Given the description of an element on the screen output the (x, y) to click on. 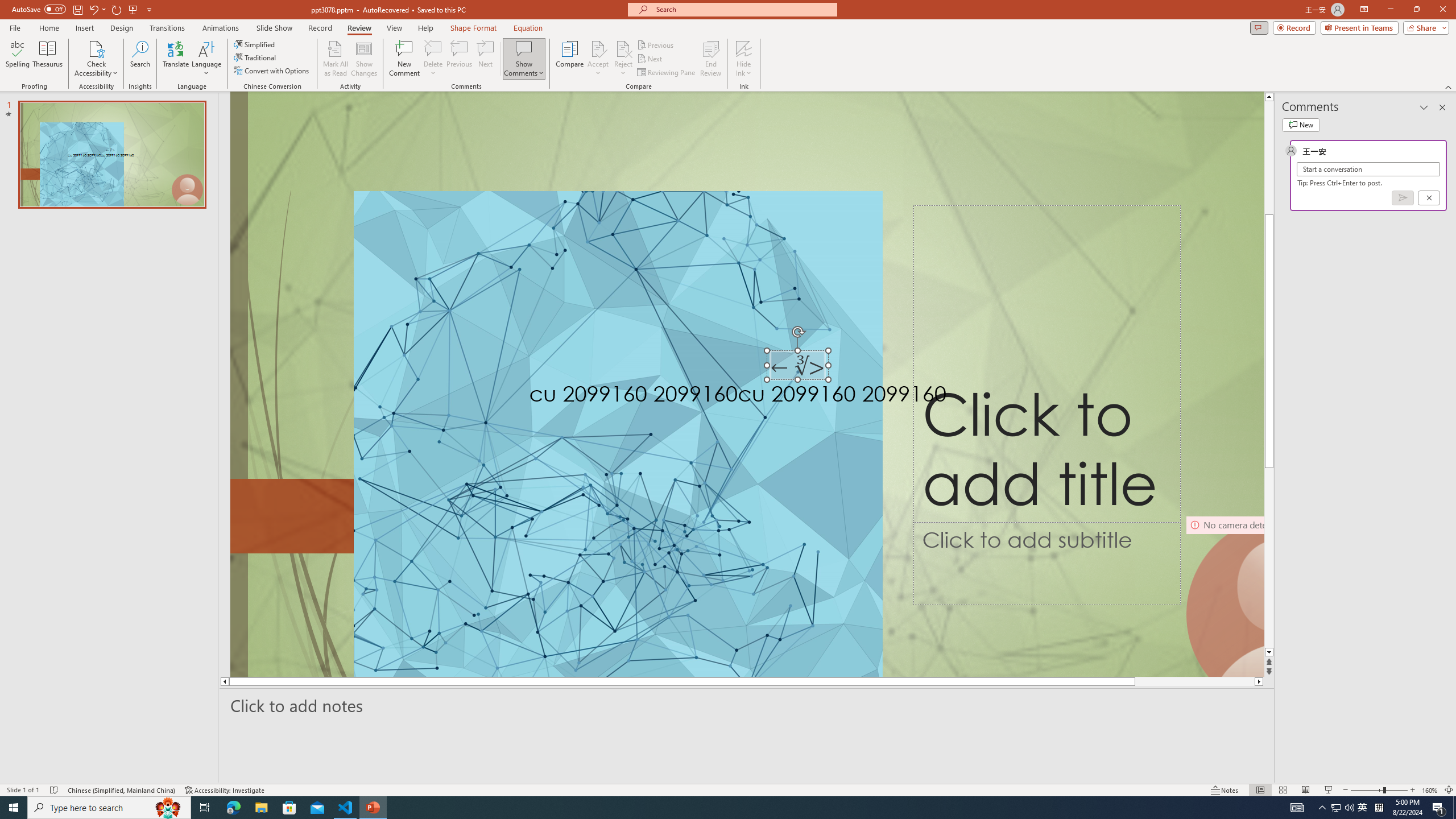
Accept Change (598, 48)
Previous (655, 44)
Cancel (1428, 197)
Thesaurus... (47, 58)
Reject (622, 58)
